Given the description of an element on the screen output the (x, y) to click on. 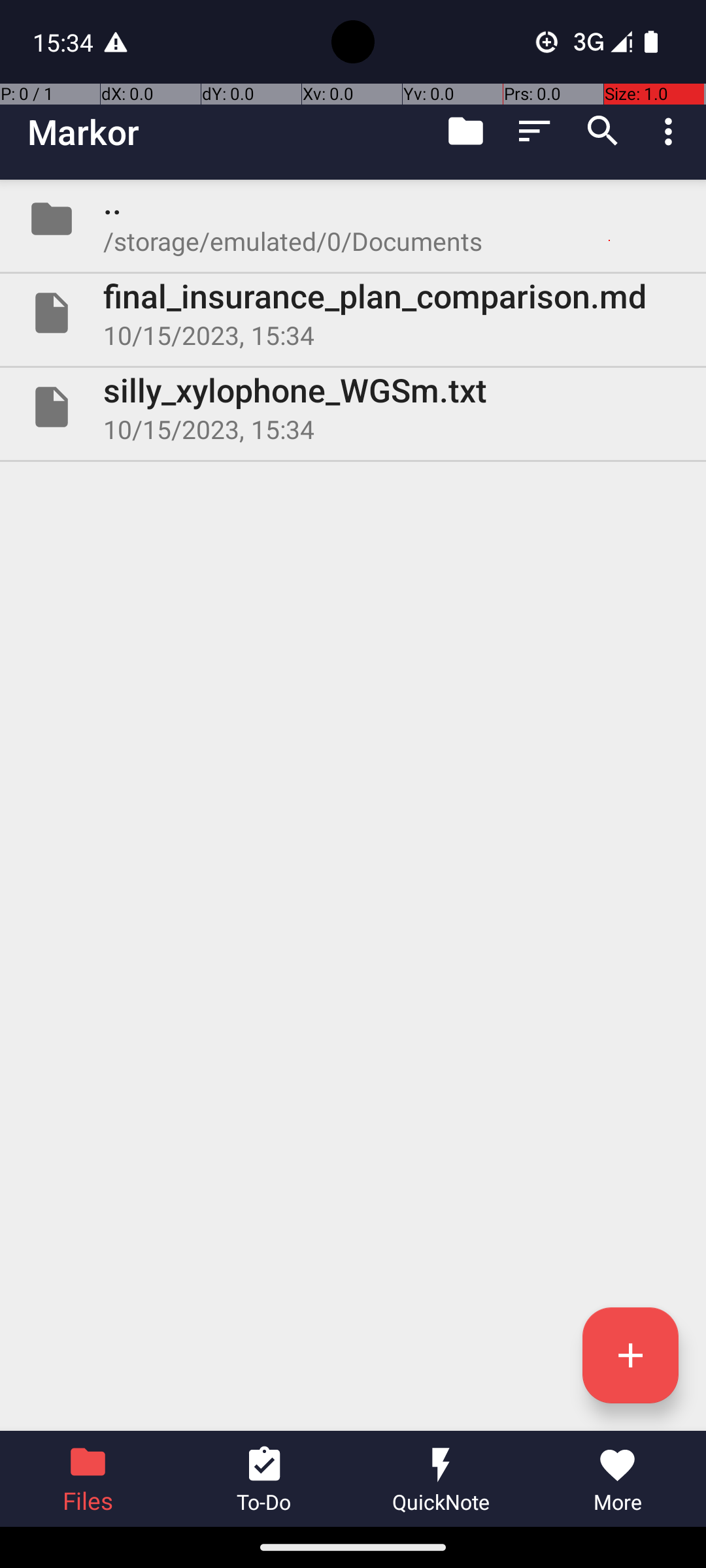
Create a new file or folder Element type: android.widget.ImageButton (630, 1355)
Go to Element type: android.widget.TextView (465, 131)
Sort by Element type: android.widget.TextView (534, 131)
Folder ..  Element type: android.widget.LinearLayout (353, 218)
File final_insurance_plan_comparison.md  Element type: android.widget.LinearLayout (353, 312)
File silly_xylophone_WGSm.txt  Element type: android.widget.LinearLayout (353, 406)
